Given the description of an element on the screen output the (x, y) to click on. 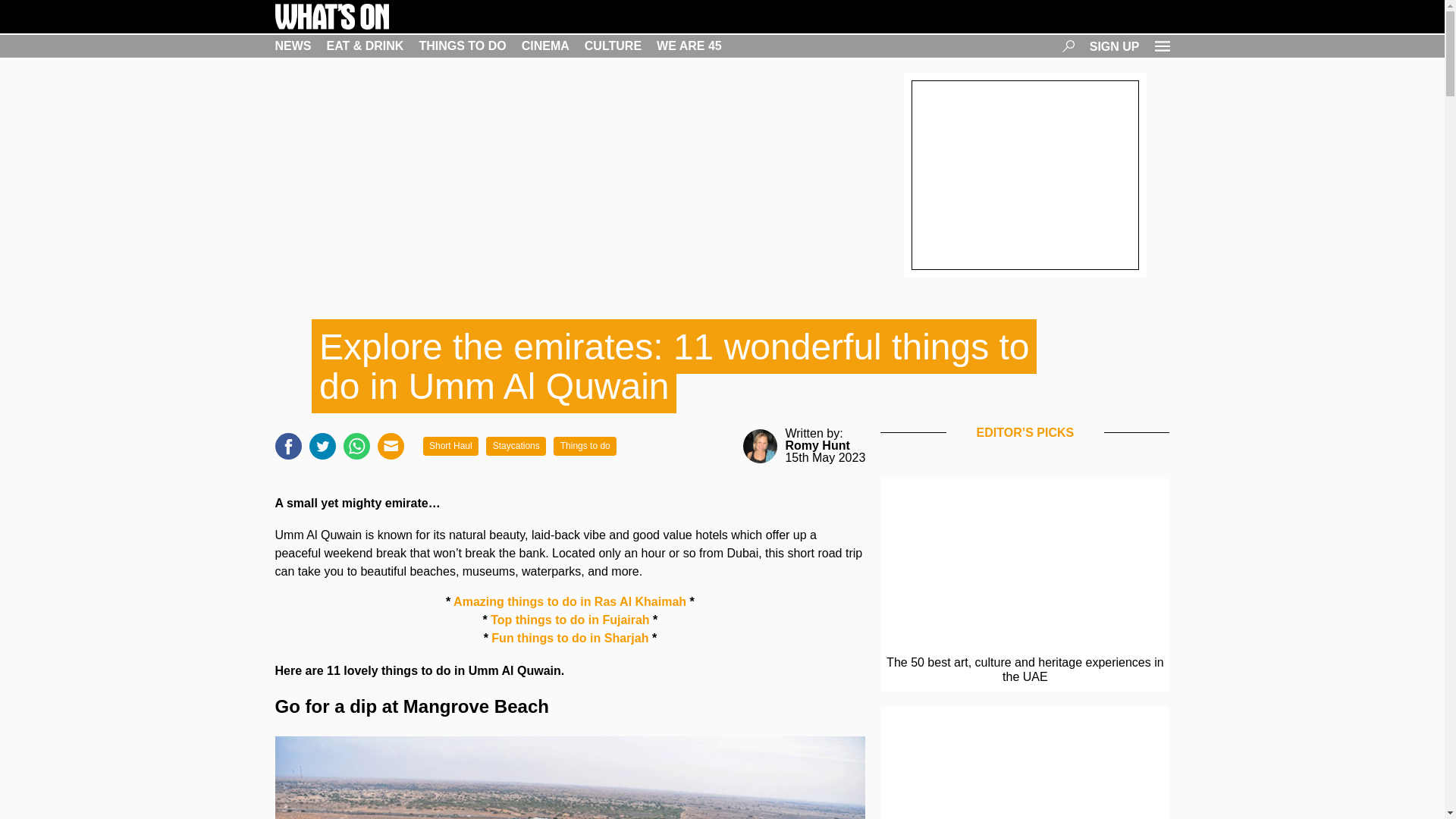
CINEMA (545, 45)
WE ARE 45 (689, 45)
THINGS TO DO (462, 45)
NEWS (293, 45)
CULTURE (613, 45)
SIGN UP (1114, 45)
